Given the description of an element on the screen output the (x, y) to click on. 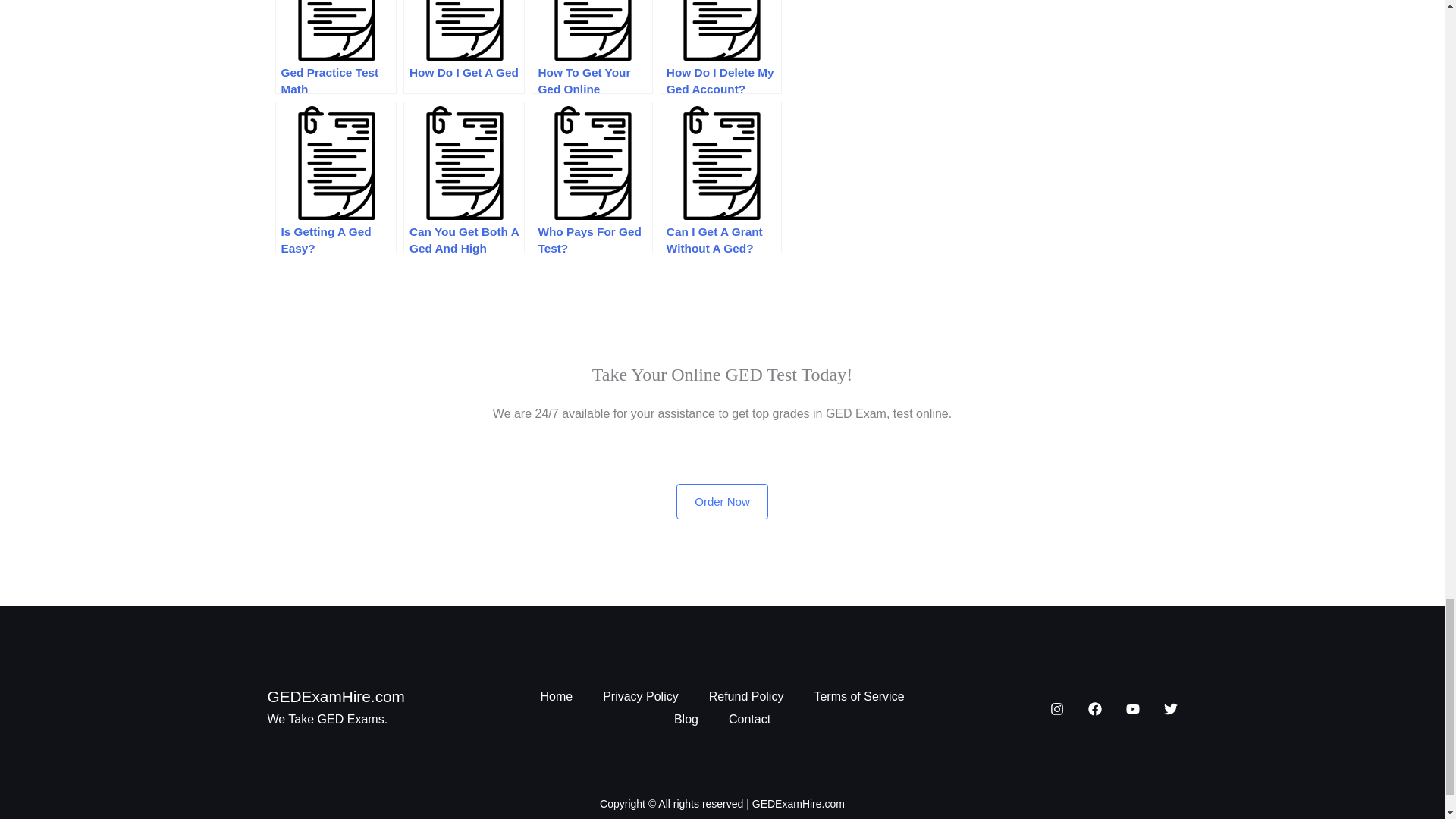
Ged Practice Test Math (335, 47)
How Do I Get A Ged (463, 47)
How To Get Your Ged Online (591, 47)
Can I Get A Grant Without A Ged? (721, 177)
How Do I Delete My Ged Account? (721, 47)
Can You Get Both A Ged And High School Diploma? (463, 177)
Is Getting A Ged Easy? (335, 177)
Who Pays For Ged Test? (591, 177)
